Given the description of an element on the screen output the (x, y) to click on. 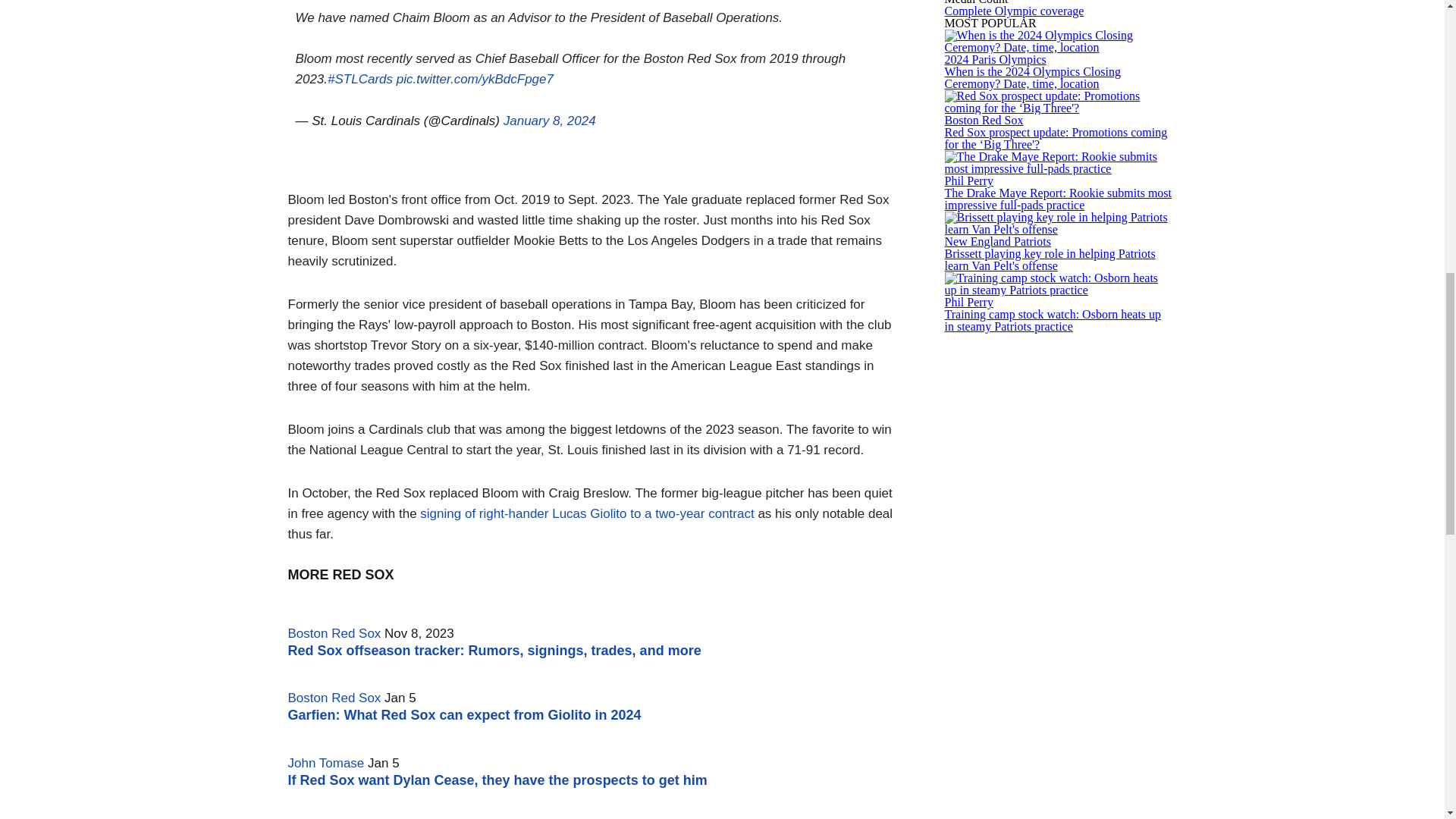
signing of right-hander Lucas Giolito to a two-year contract (587, 513)
Complete Olympic coverage (1014, 10)
January 8, 2024 (549, 120)
Garfien: What Red Sox can expect from Giolito in 2024 (465, 714)
John Tomase (326, 762)
Boston Red Sox (334, 633)
Boston Red Sox (334, 698)
